Given the description of an element on the screen output the (x, y) to click on. 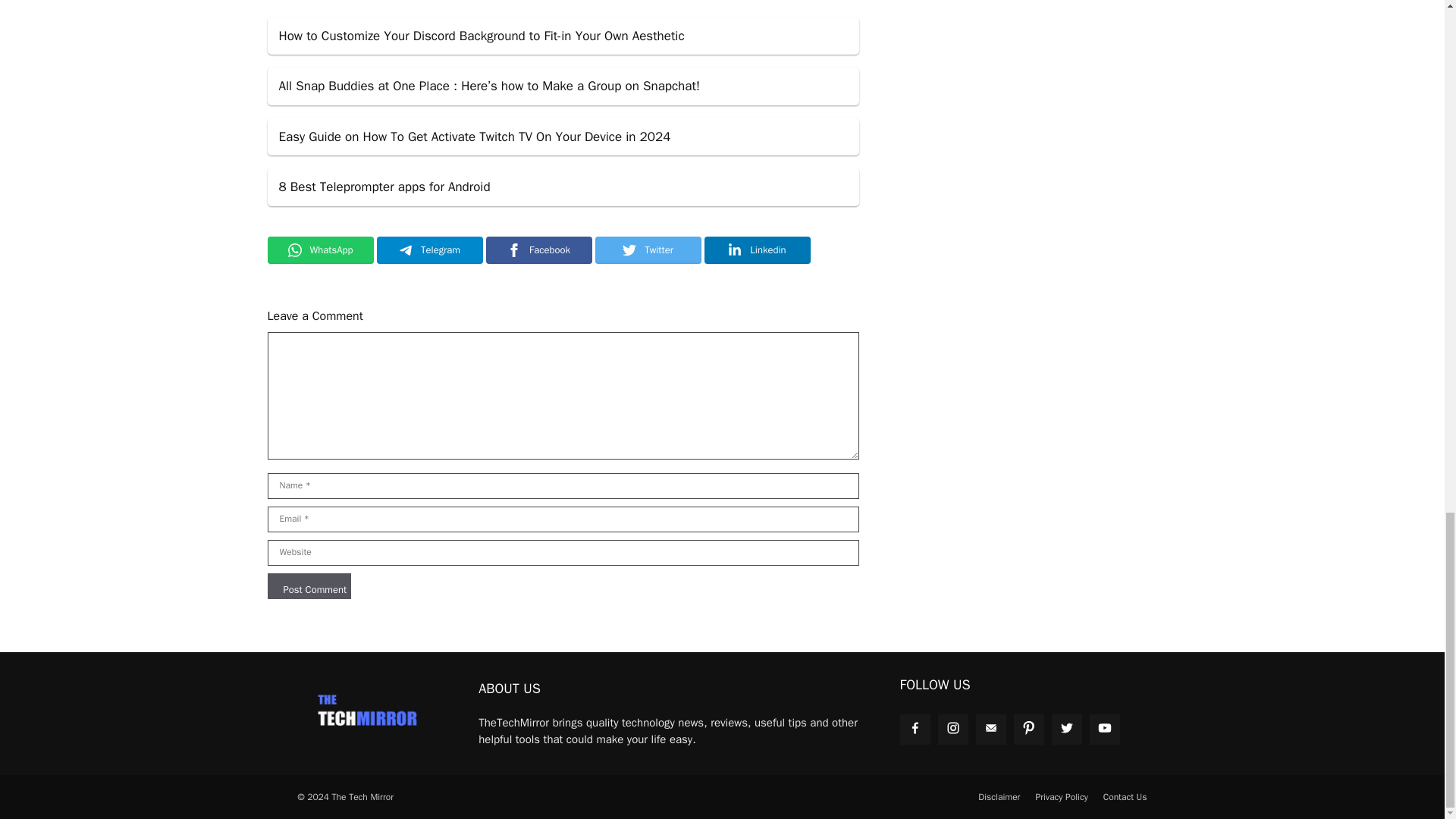
8 Best Teleprompter apps for Android (562, 187)
Linkedin (756, 249)
Mail (990, 728)
Twitter (647, 249)
Facebook (914, 728)
Twitter (1066, 728)
Telegram (428, 249)
Pinterest (1028, 728)
Facebook (537, 249)
Post Comment (308, 585)
WhatsApp (319, 249)
Instagram (952, 728)
Post Comment (308, 585)
